Given the description of an element on the screen output the (x, y) to click on. 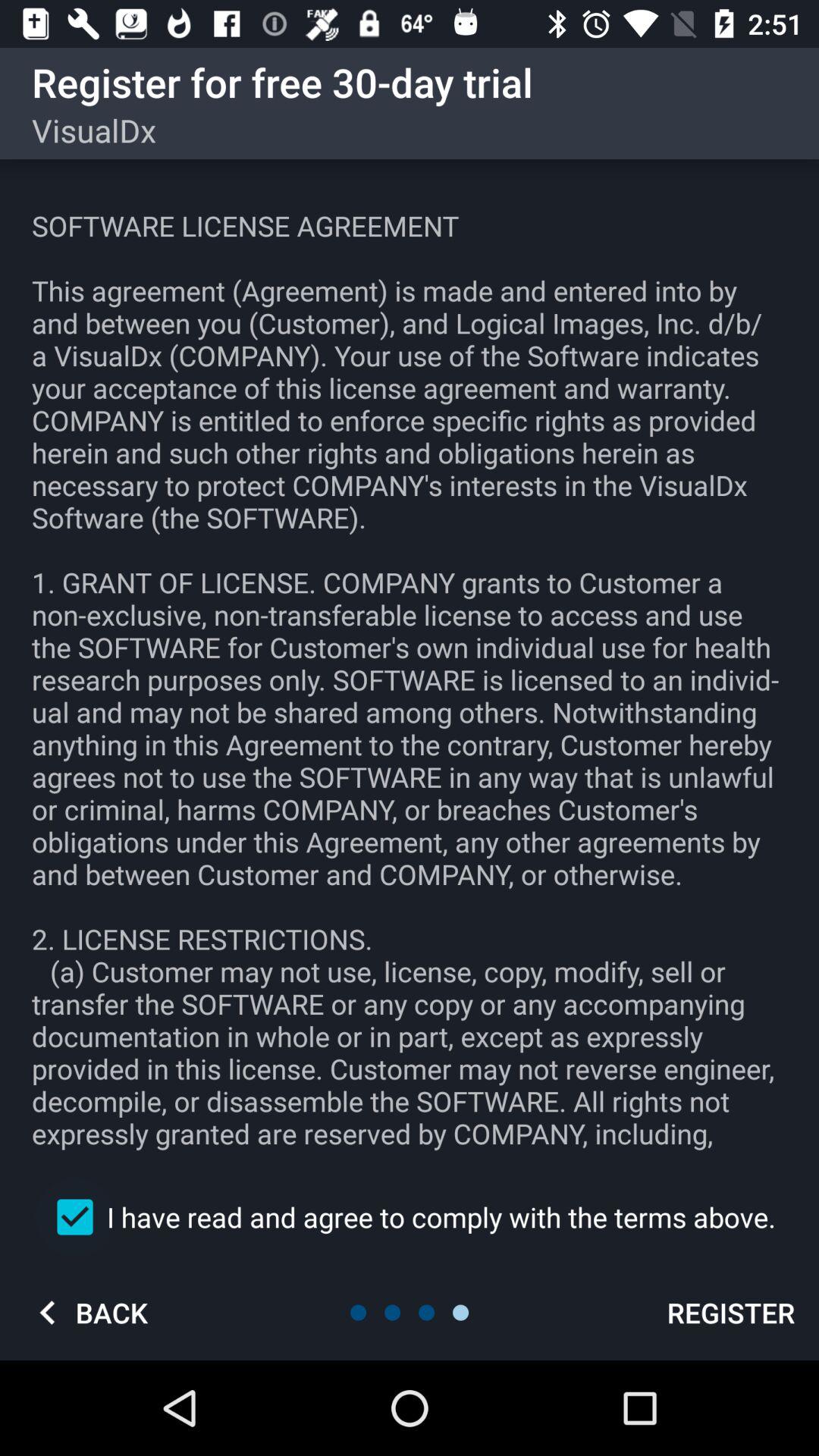
flip to i have read item (409, 1216)
